Given the description of an element on the screen output the (x, y) to click on. 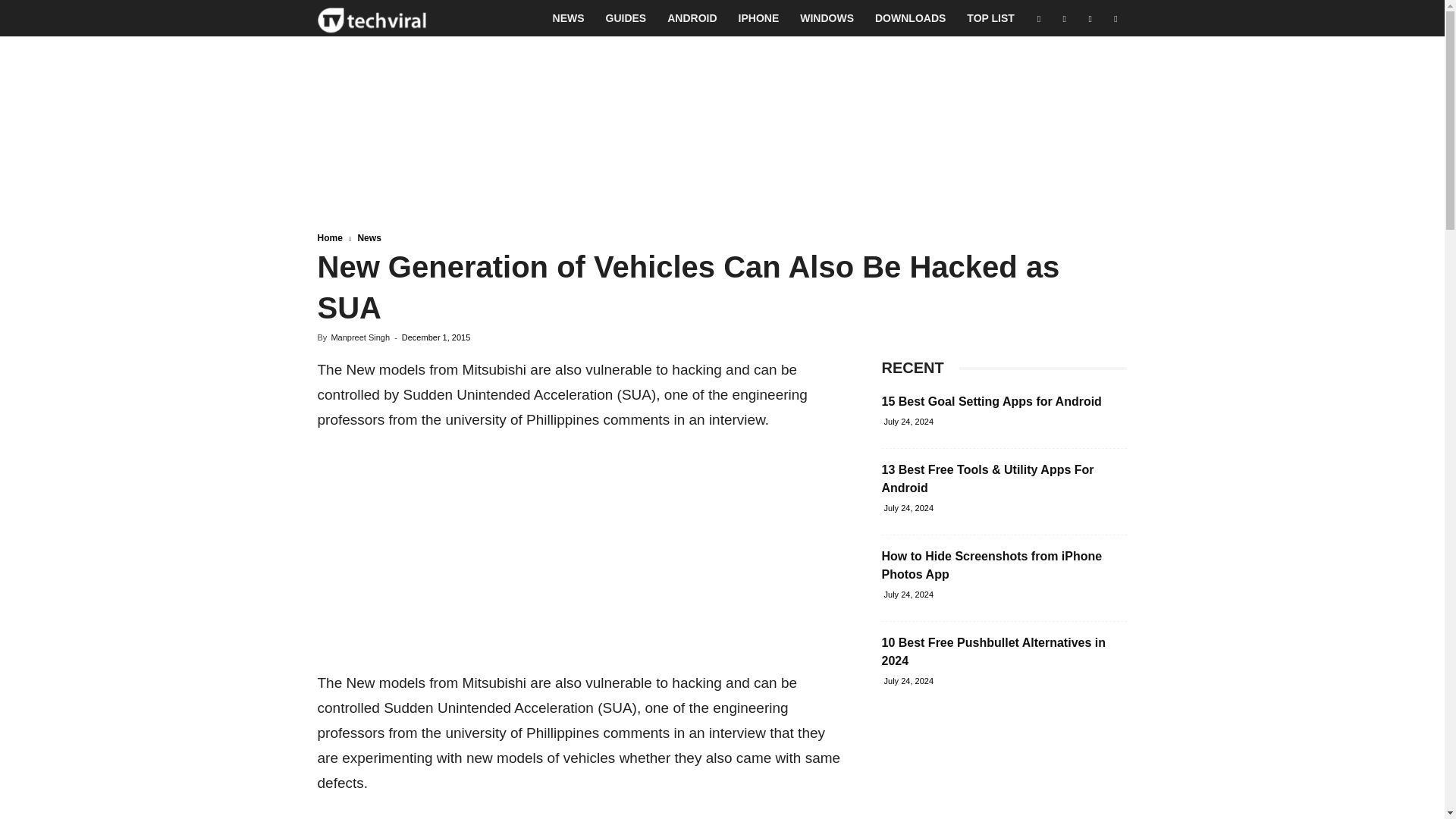
NEWS (568, 18)
ANDROID (691, 18)
DOWNLOADS (910, 18)
Tech Viral (371, 18)
TOP LIST (990, 18)
WINDOWS (826, 18)
15 Best Goal Setting Apps for Android (990, 400)
Manpreet Singh (360, 337)
TechViral (371, 18)
Home (329, 237)
IPHONE (759, 18)
GUIDES (626, 18)
